Given the description of an element on the screen output the (x, y) to click on. 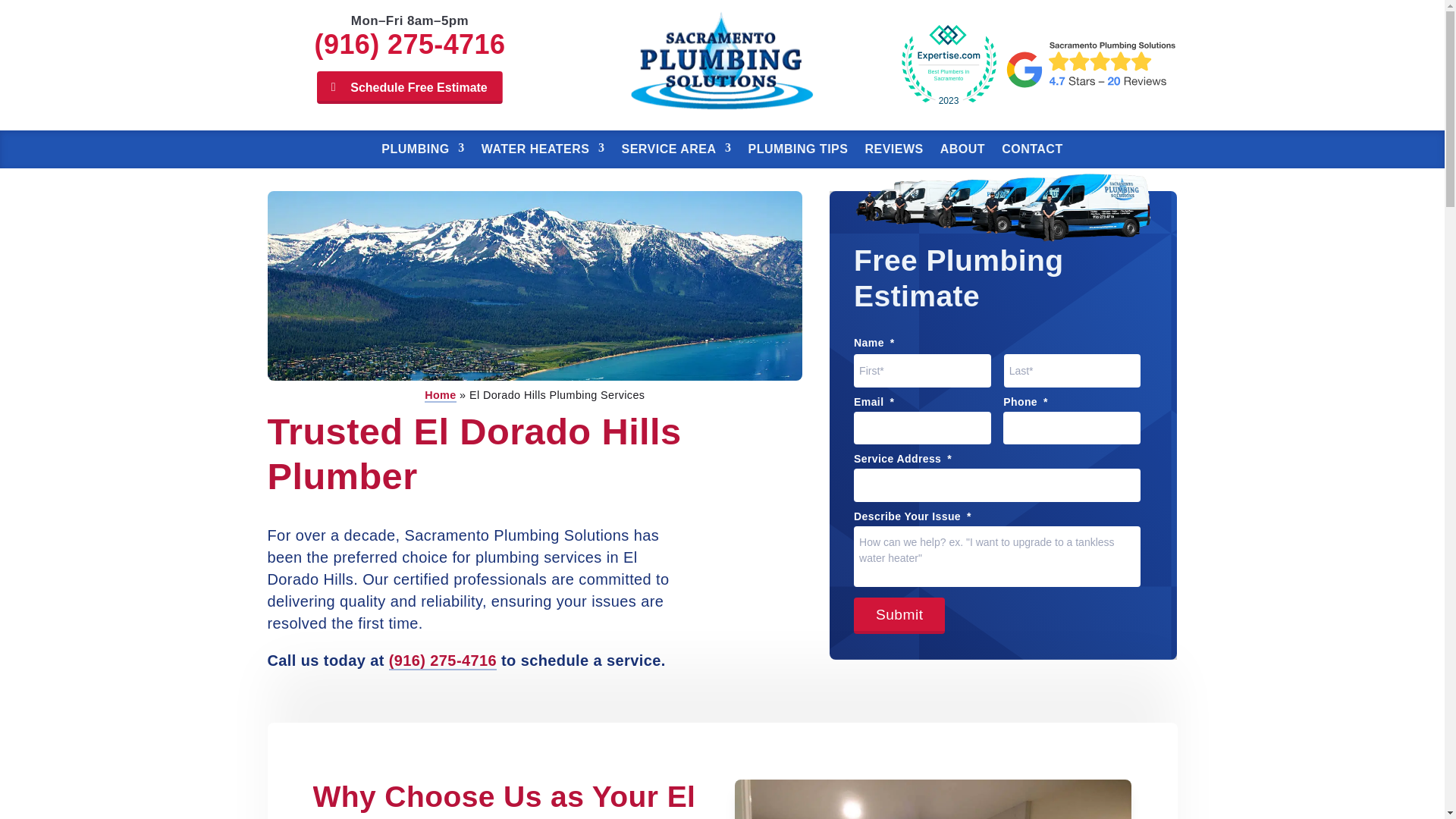
Schedule Free Estimate (409, 87)
Submit (898, 615)
Best Plumbers in Sacramento  (948, 64)
el-dorado (534, 376)
SPS-Team-Cutout (1003, 238)
WATER HEATERS (543, 149)
SERVICE AREA (675, 149)
PLUMBING (422, 149)
4.7 Stars Reviews (1091, 64)
Sacramento Plumbing Solutions (721, 108)
